Given the description of an element on the screen output the (x, y) to click on. 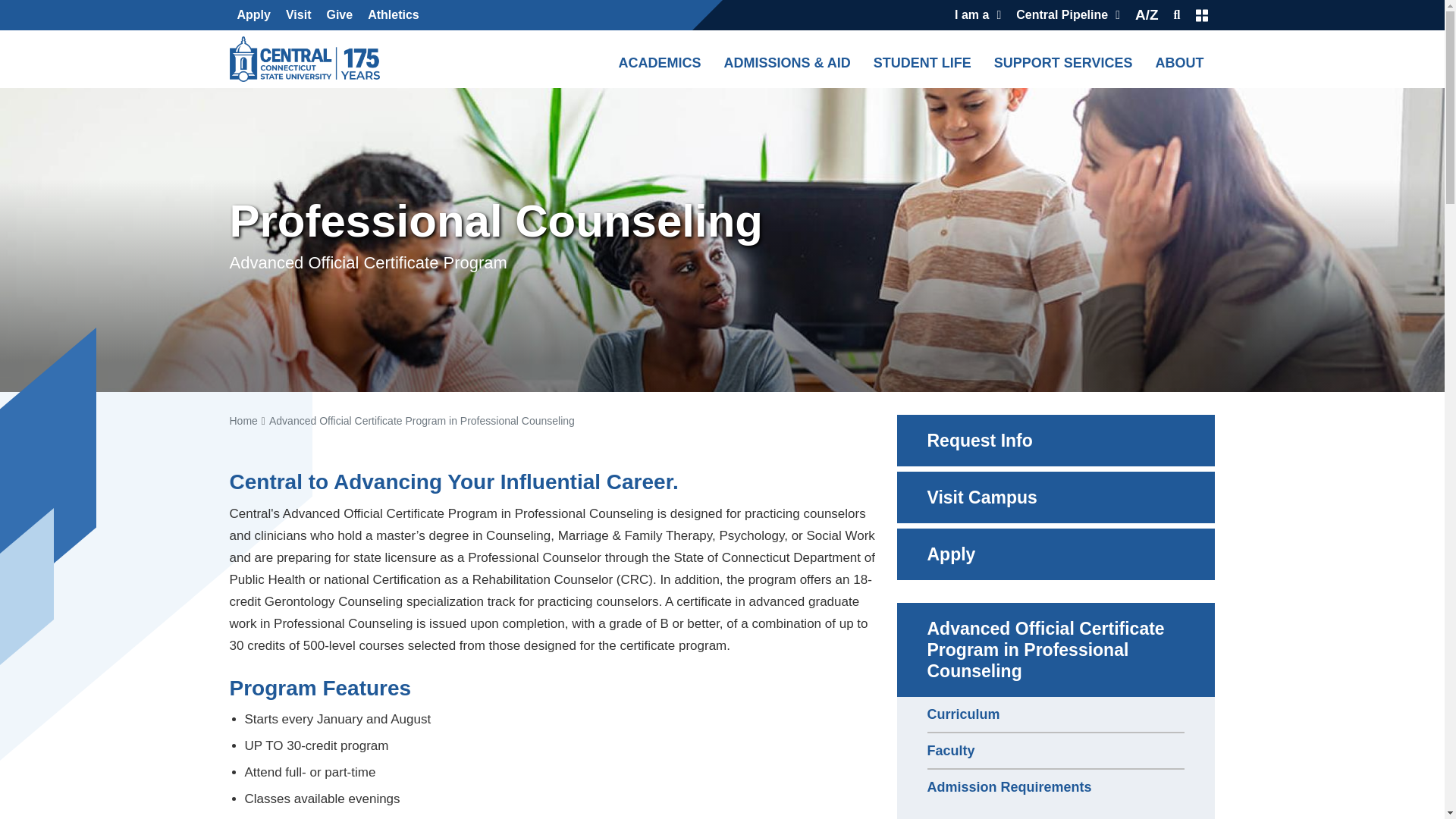
Apply (253, 15)
Visit (298, 15)
Quick Links (1201, 15)
Central Pipeline (1067, 15)
Give (338, 15)
I am a (978, 15)
Home (307, 58)
Athletics (392, 15)
ACADEMICS (658, 58)
